Given the description of an element on the screen output the (x, y) to click on. 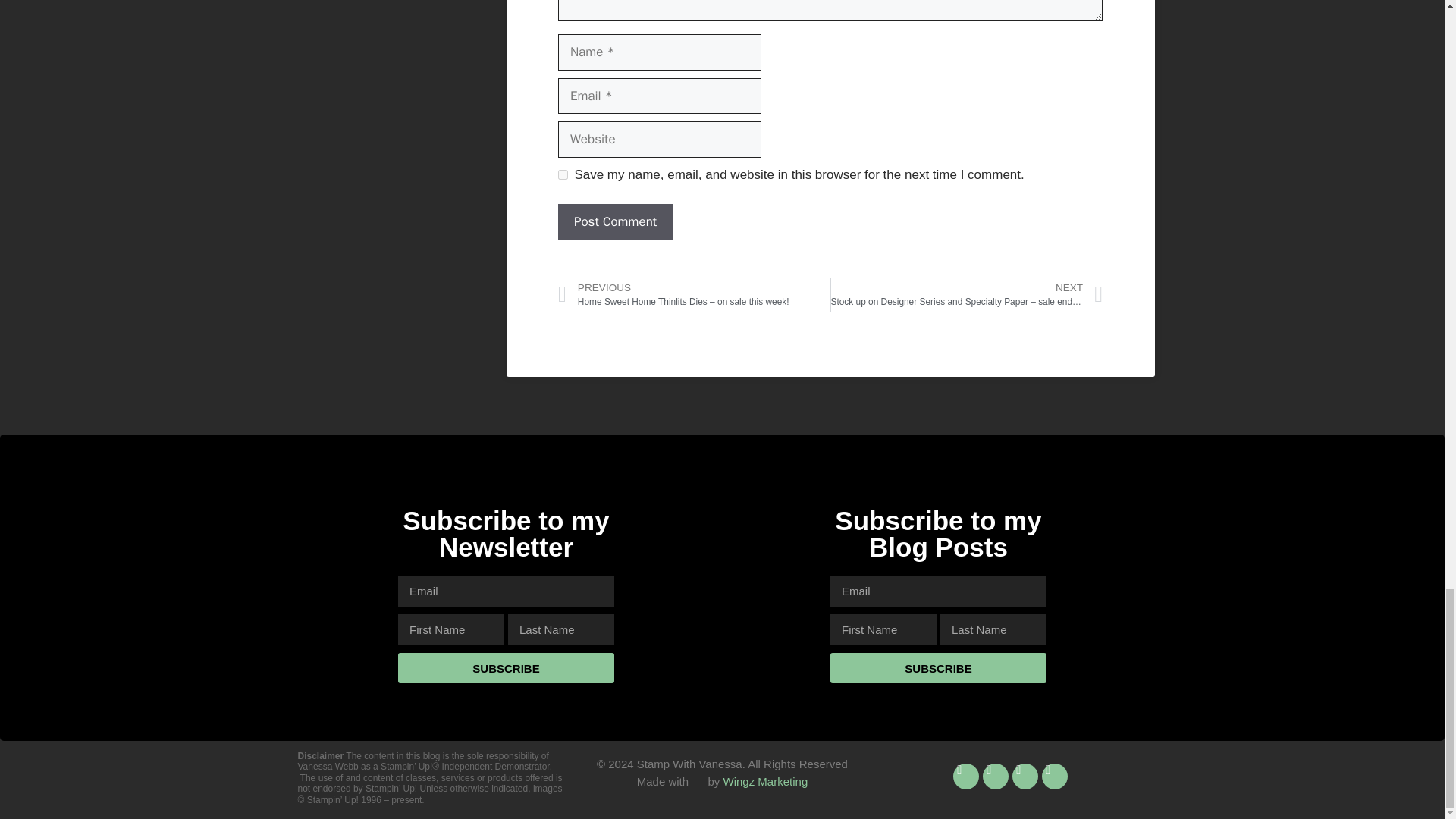
Post Comment (614, 221)
yes (562, 174)
